Given the description of an element on the screen output the (x, y) to click on. 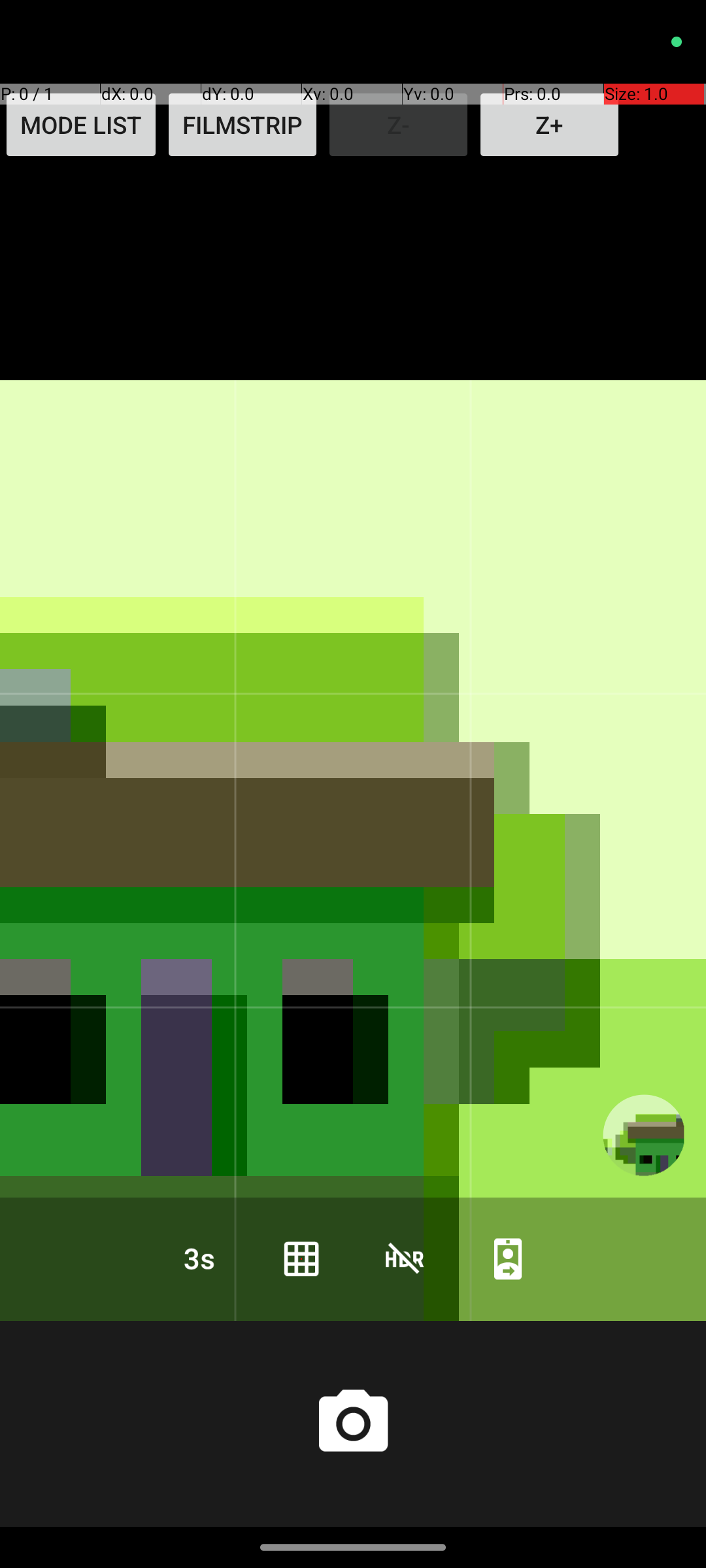
Countdown timer duration is set to 3 seconds Element type: android.widget.ImageButton (197, 1258)
Grid lines on Element type: android.widget.ImageButton (301, 1258)
HDR off Element type: android.widget.ImageButton (404, 1258)
Front camera Element type: android.widget.ImageButton (507, 1258)
